Given the description of an element on the screen output the (x, y) to click on. 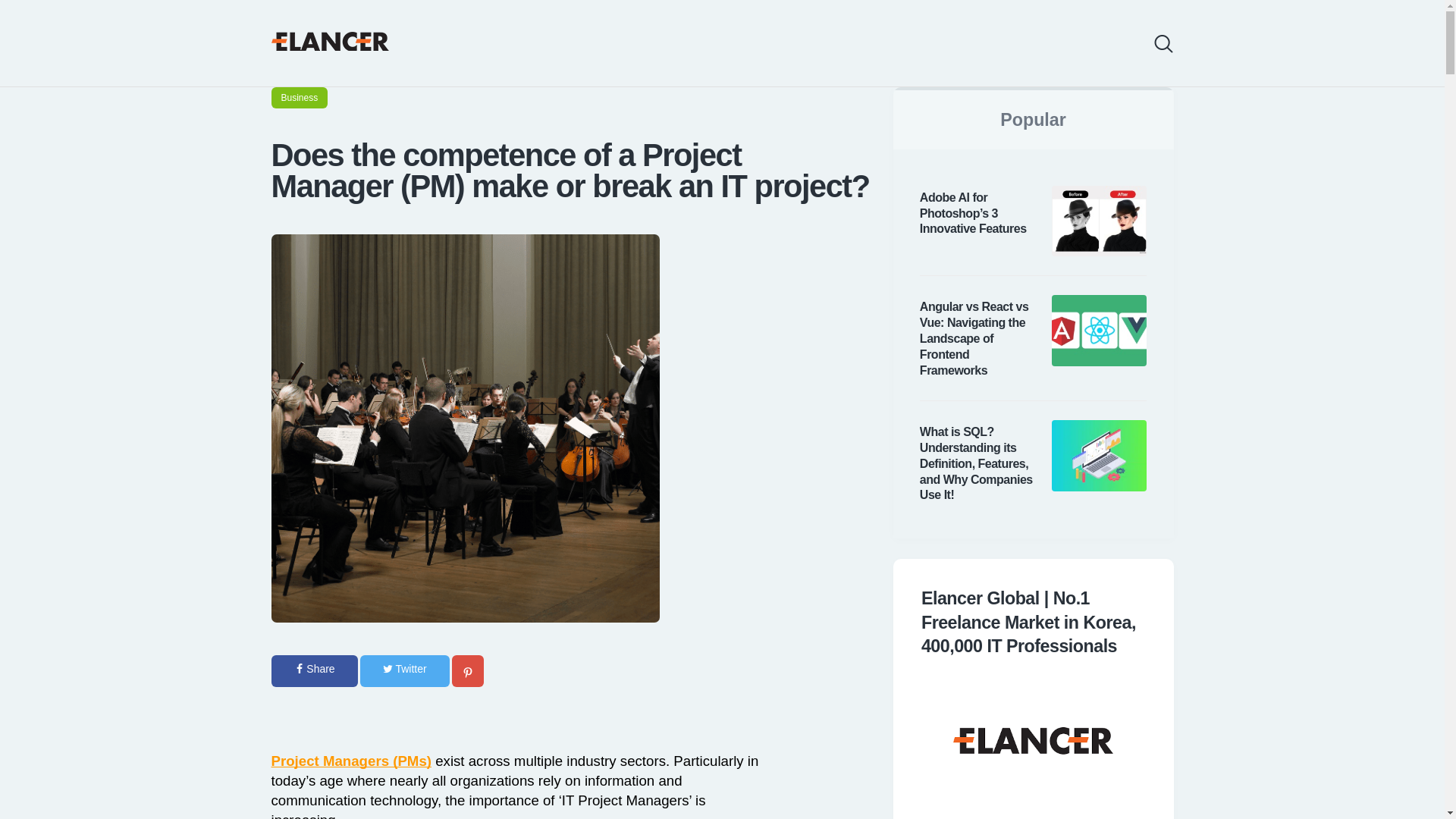
Share (314, 671)
Twitter (404, 671)
Business (299, 97)
